Given the description of an element on the screen output the (x, y) to click on. 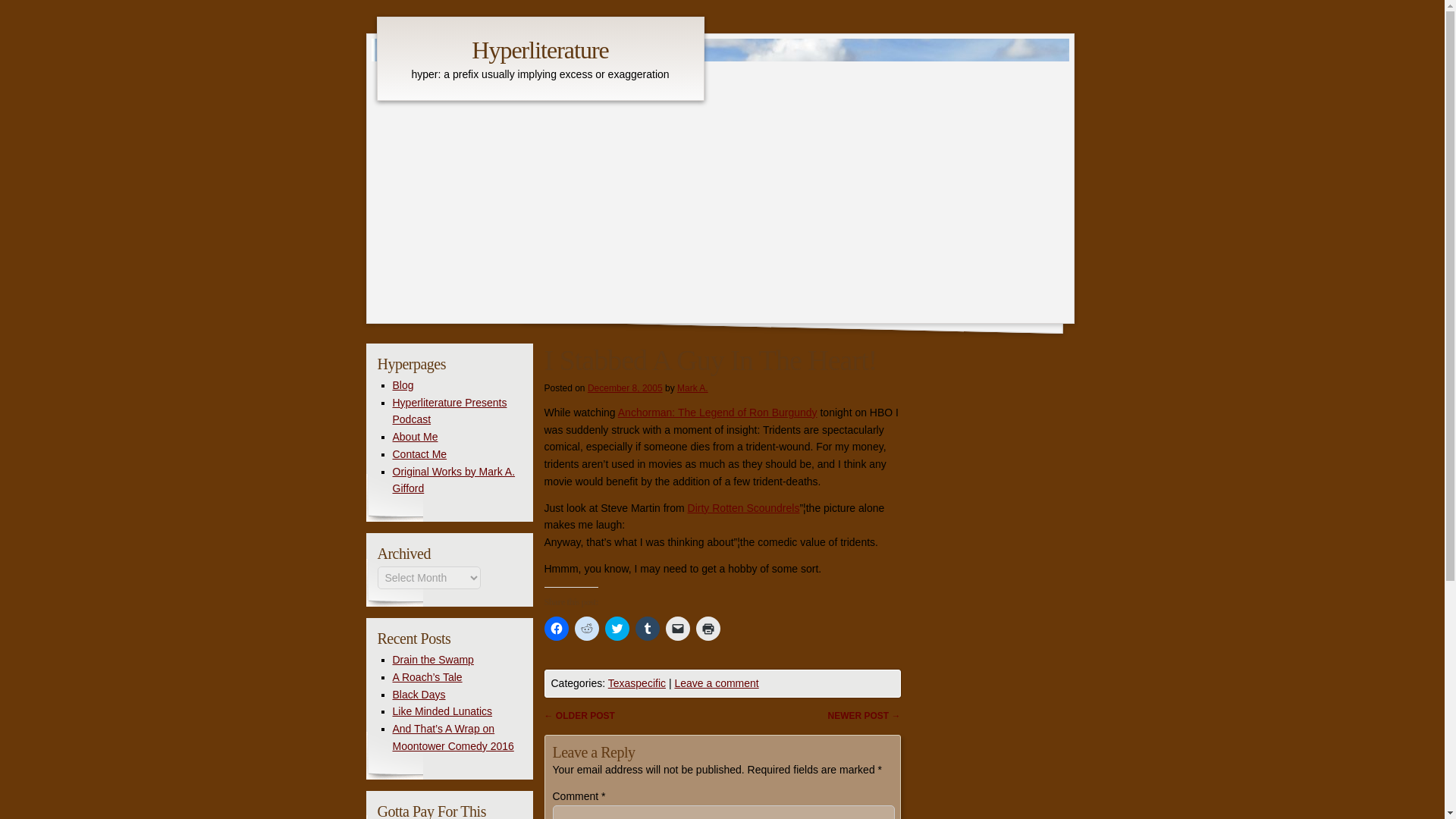
Mark A. (692, 388)
View all posts by Mark A. (692, 388)
Click to share on Tumblr (646, 628)
December 8, 2005 (625, 388)
Texaspecific (636, 683)
Hyperliterature Presents Podcast (449, 410)
Click to share on Facebook (556, 628)
Click to share on Reddit (586, 628)
Like Minded Lunatics (443, 711)
Leave a comment (716, 683)
